Given the description of an element on the screen output the (x, y) to click on. 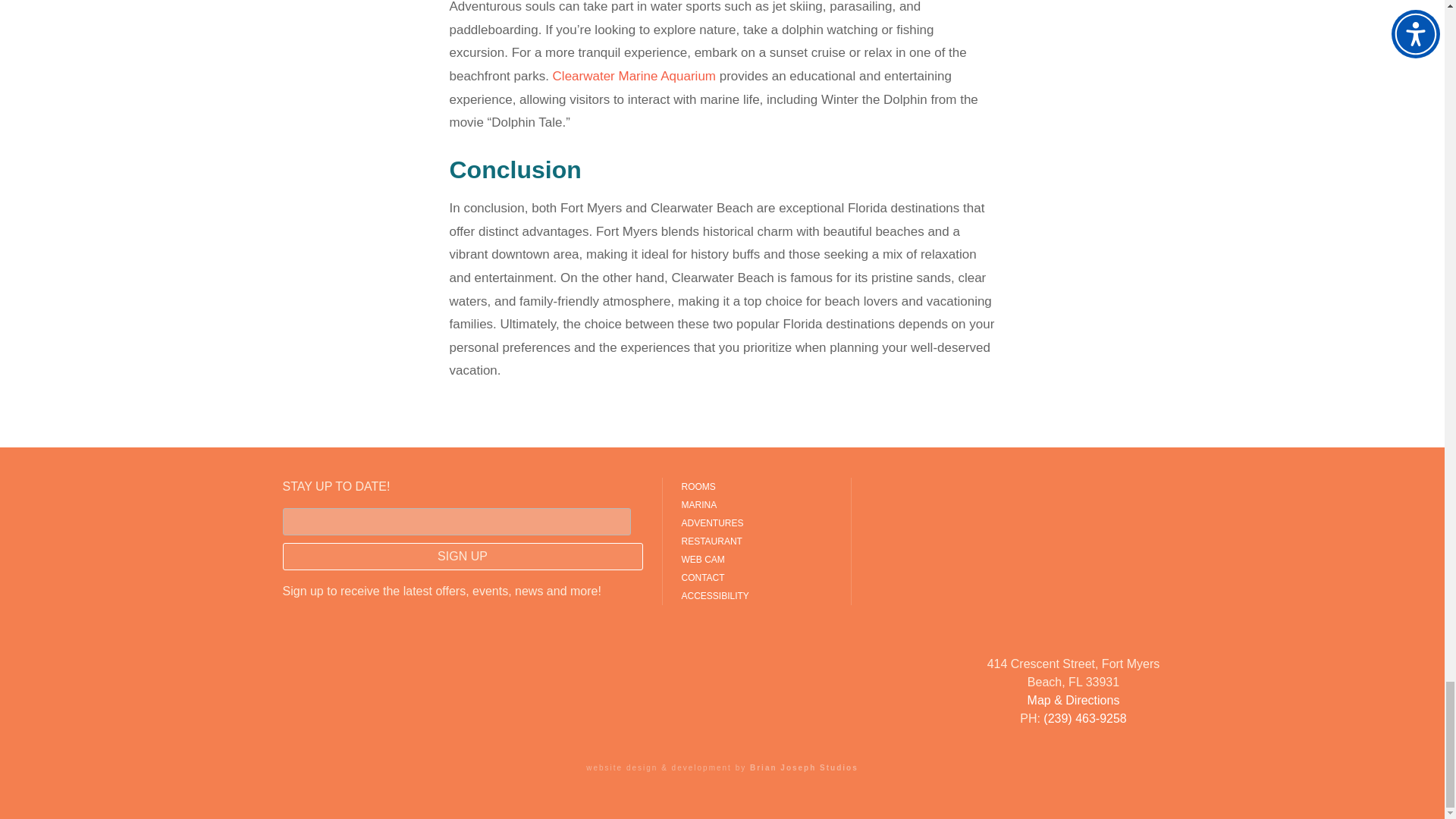
Brian Joseph Studios Naples Web Design (804, 767)
Sign Up (462, 556)
WEB CAM (756, 559)
Sign Up (462, 556)
Clearwater Marine Aquarium (634, 75)
ROOMS (756, 486)
CONTACT (756, 577)
RESTAURANT (756, 541)
MARINA (756, 505)
ACCESSIBILITY (756, 596)
ADVENTURES (756, 523)
